Given the description of an element on the screen output the (x, y) to click on. 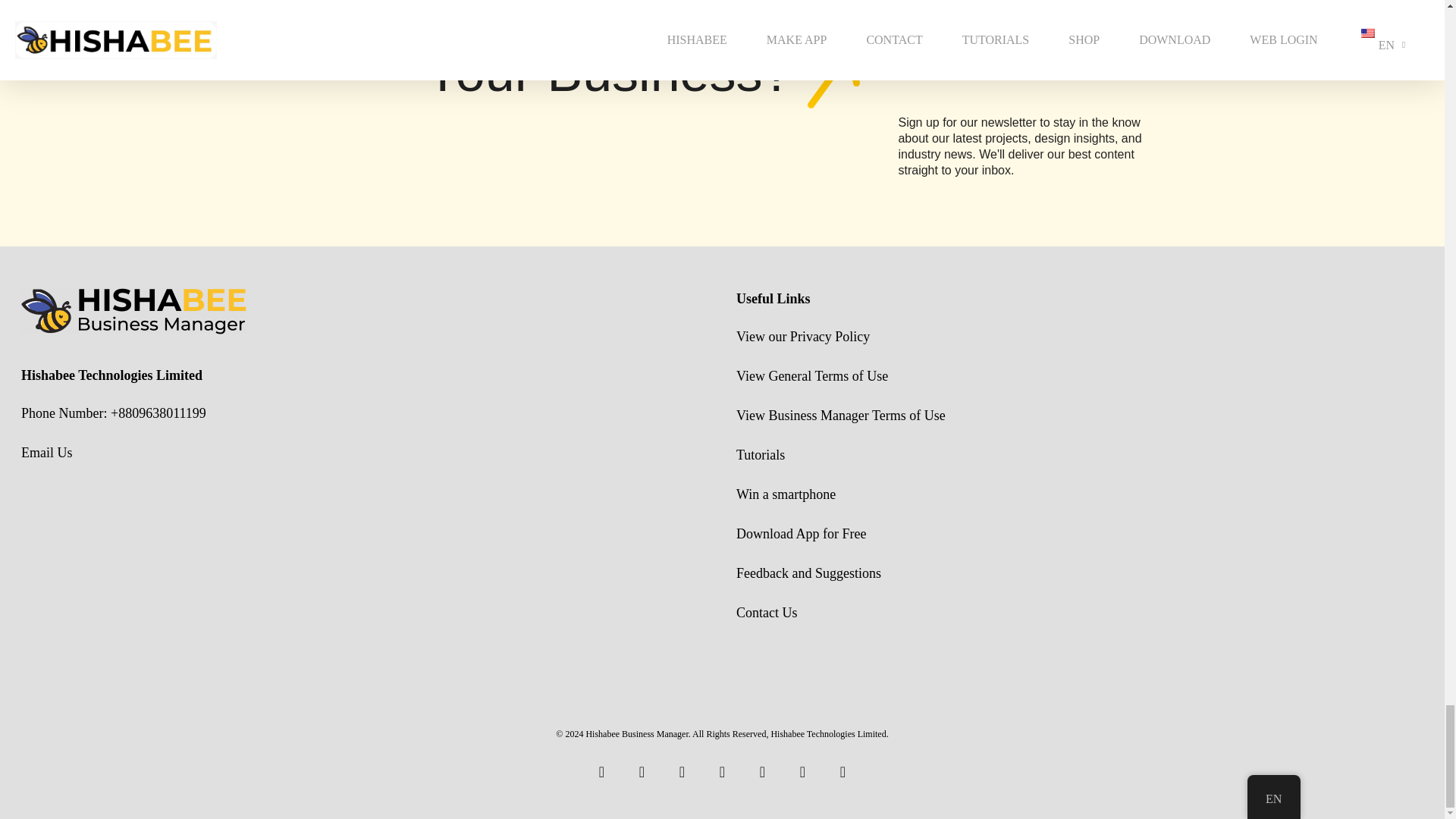
Your Business? (642, 81)
Feedback and Suggestions (808, 572)
Download App for Free (801, 533)
View Business Manager Terms of Use (840, 415)
Tutorials (760, 454)
Email Us (46, 452)
View our Privacy Policy (802, 336)
Win a smartphone (785, 494)
Contact Us (766, 612)
View General Terms of Use (812, 376)
